Given the description of an element on the screen output the (x, y) to click on. 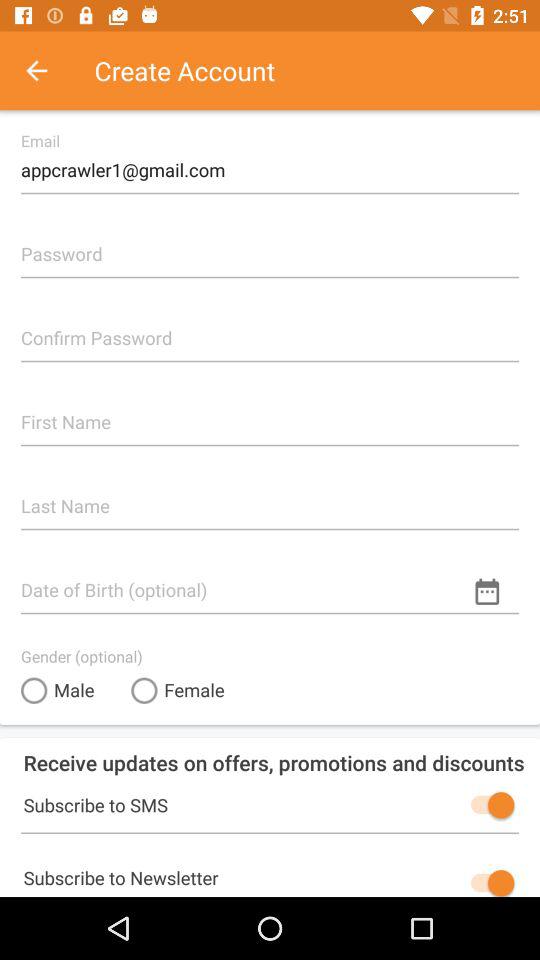
touch to enter password (270, 245)
